Given the description of an element on the screen output the (x, y) to click on. 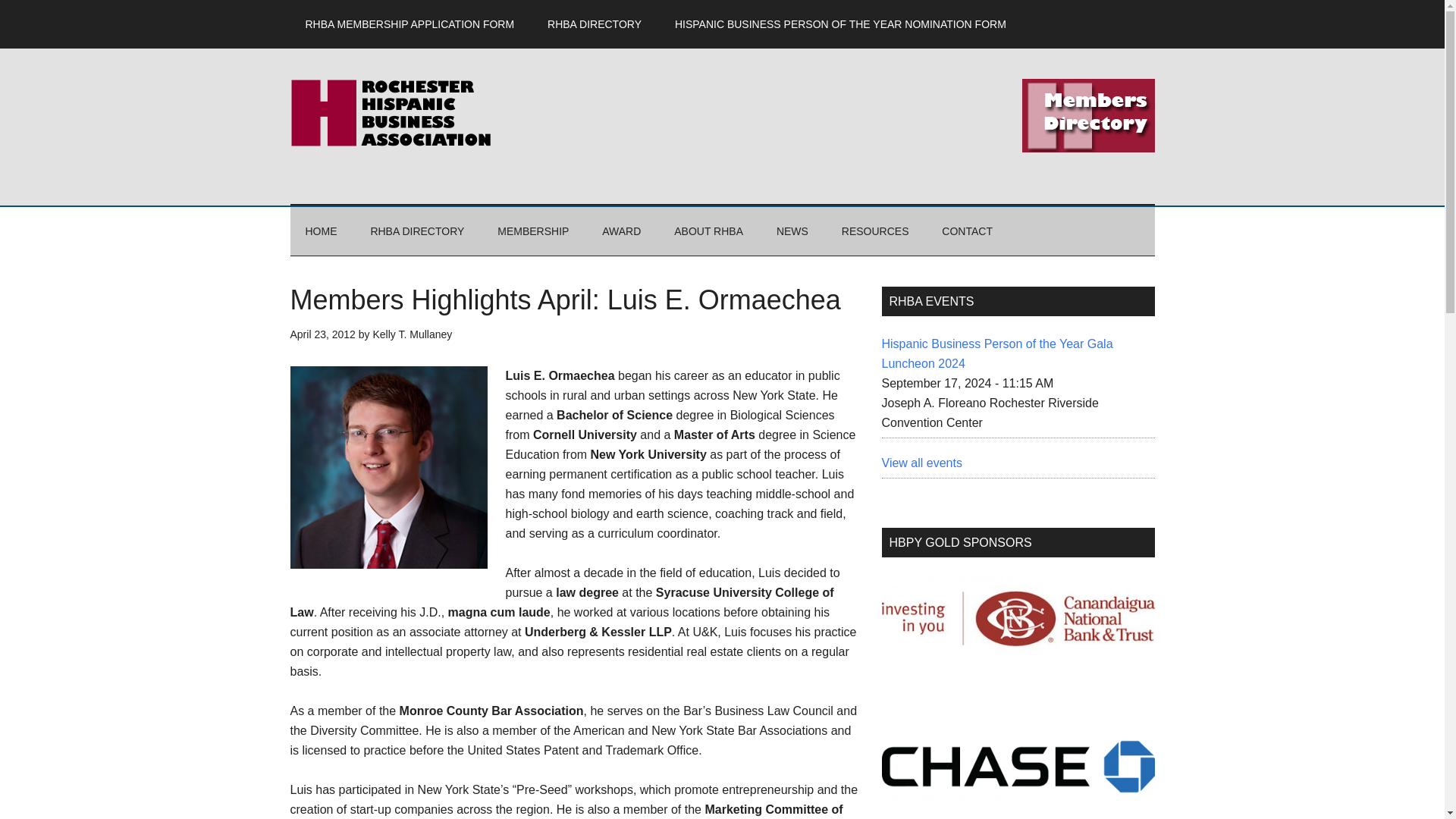
MEMBERSHIP (532, 231)
HISPANIC BUSINESS PERSON OF THE YEAR NOMINATION FORM (840, 24)
ABOUT RHBA (708, 231)
Rochester Hispanic Business Association (433, 112)
AWARD (621, 231)
View RHBA Members Directory (1088, 115)
RHBA MEMBERSHIP APPLICATION FORM (409, 24)
Luis Ormaechea (387, 467)
RHBA DIRECTORY (594, 24)
NEWS (792, 231)
RHBA DIRECTORY (417, 231)
View all events (920, 462)
HOME (320, 231)
